Given the description of an element on the screen output the (x, y) to click on. 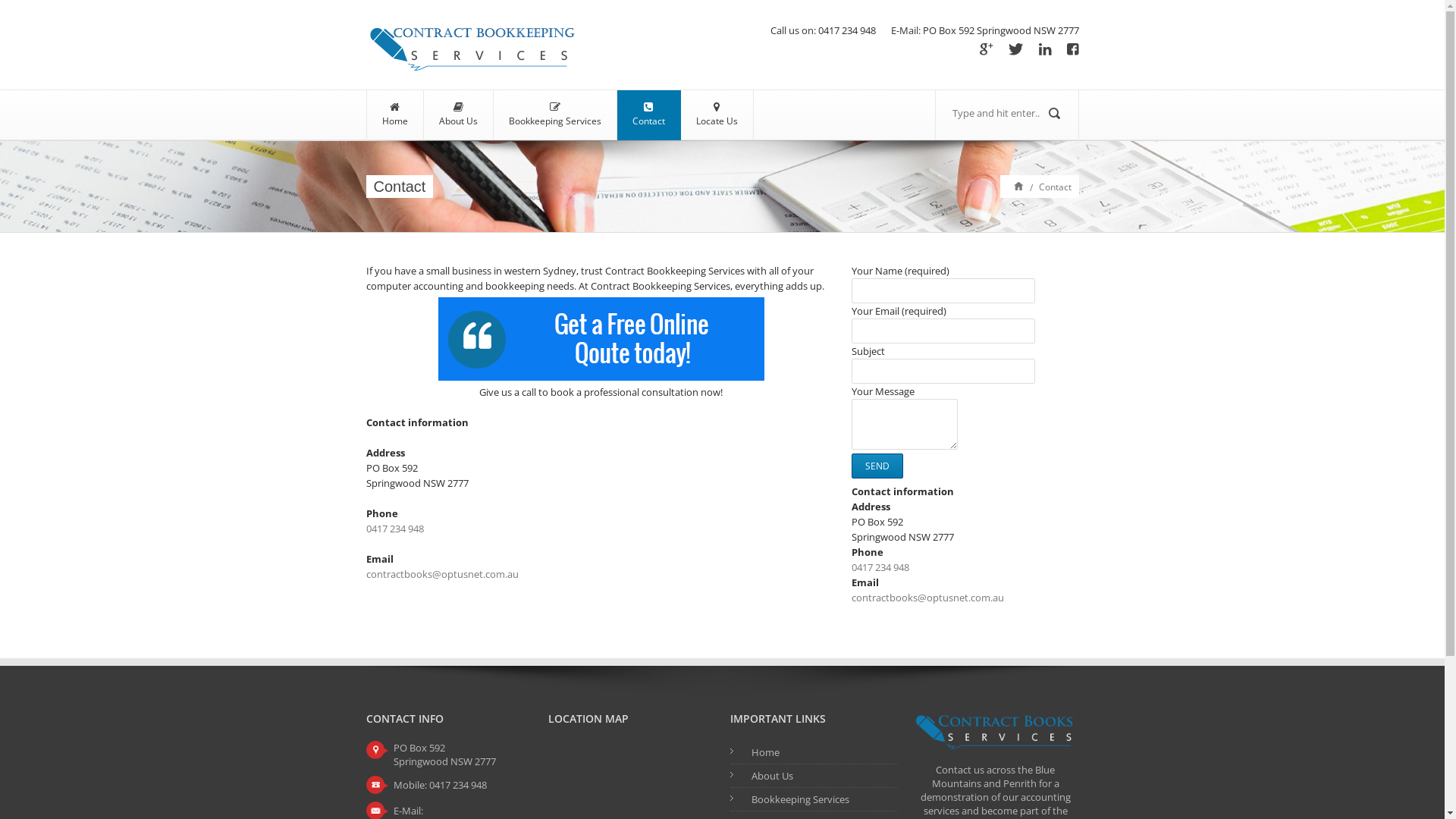
Home Element type: text (764, 752)
Locate Us Element type: text (716, 114)
Bookkeeping Services Element type: text (799, 799)
Send Element type: text (876, 465)
Home Element type: text (395, 114)
Twitter Element type: hover (1015, 49)
Facebook Element type: hover (1072, 49)
contractbooks@optusnet.com.au Element type: text (441, 573)
About Us Element type: text (457, 114)
0417 234 948 Element type: text (394, 528)
Linkedin Element type: hover (1044, 49)
Home Element type: text (1017, 185)
0417 234 948 Element type: text (879, 567)
Bookkeeping Services Element type: text (553, 114)
contractbooks@optusnet.com.au Element type: text (926, 597)
About Us Element type: text (771, 775)
Contact Element type: text (648, 114)
Google_plus Element type: hover (986, 49)
